Given the description of an element on the screen output the (x, y) to click on. 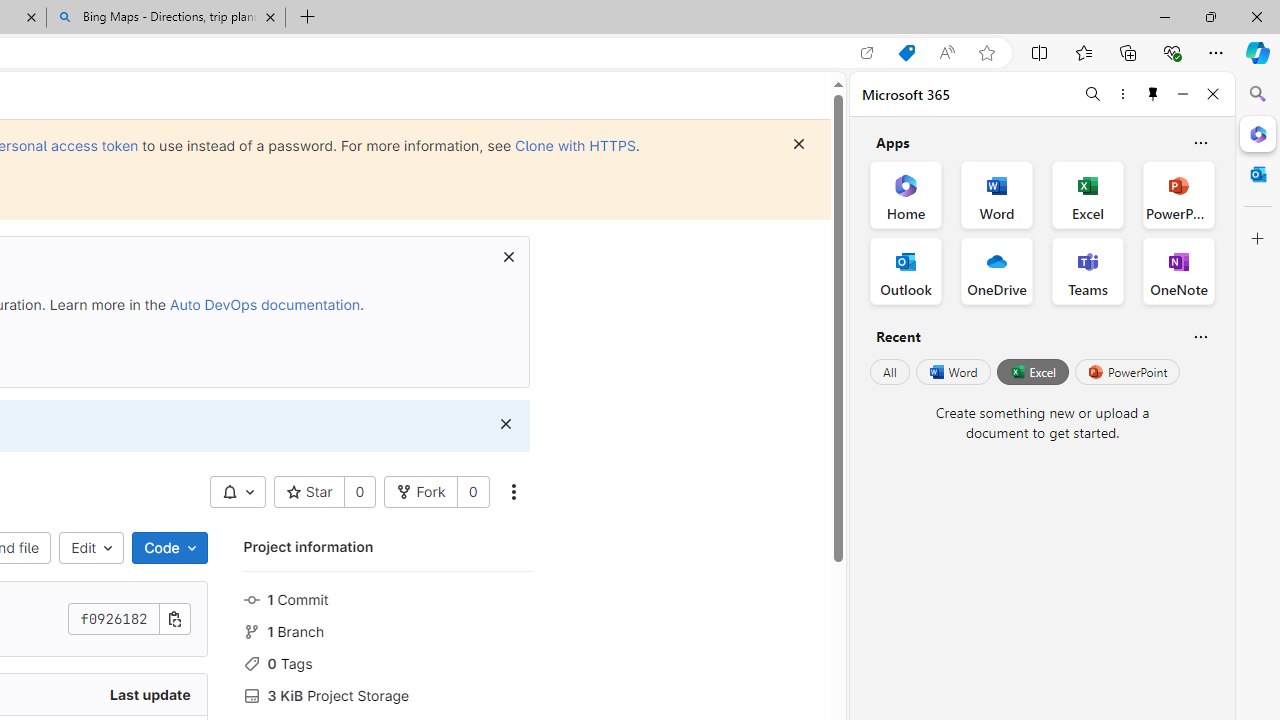
PowerPoint Office App (1178, 194)
Excel Office App (1087, 194)
Copy commit SHA (173, 619)
Dismiss Auto DevOps box (508, 256)
1 Branch (387, 629)
1 Branch (387, 629)
Home Office App (906, 194)
